Given the description of an element on the screen output the (x, y) to click on. 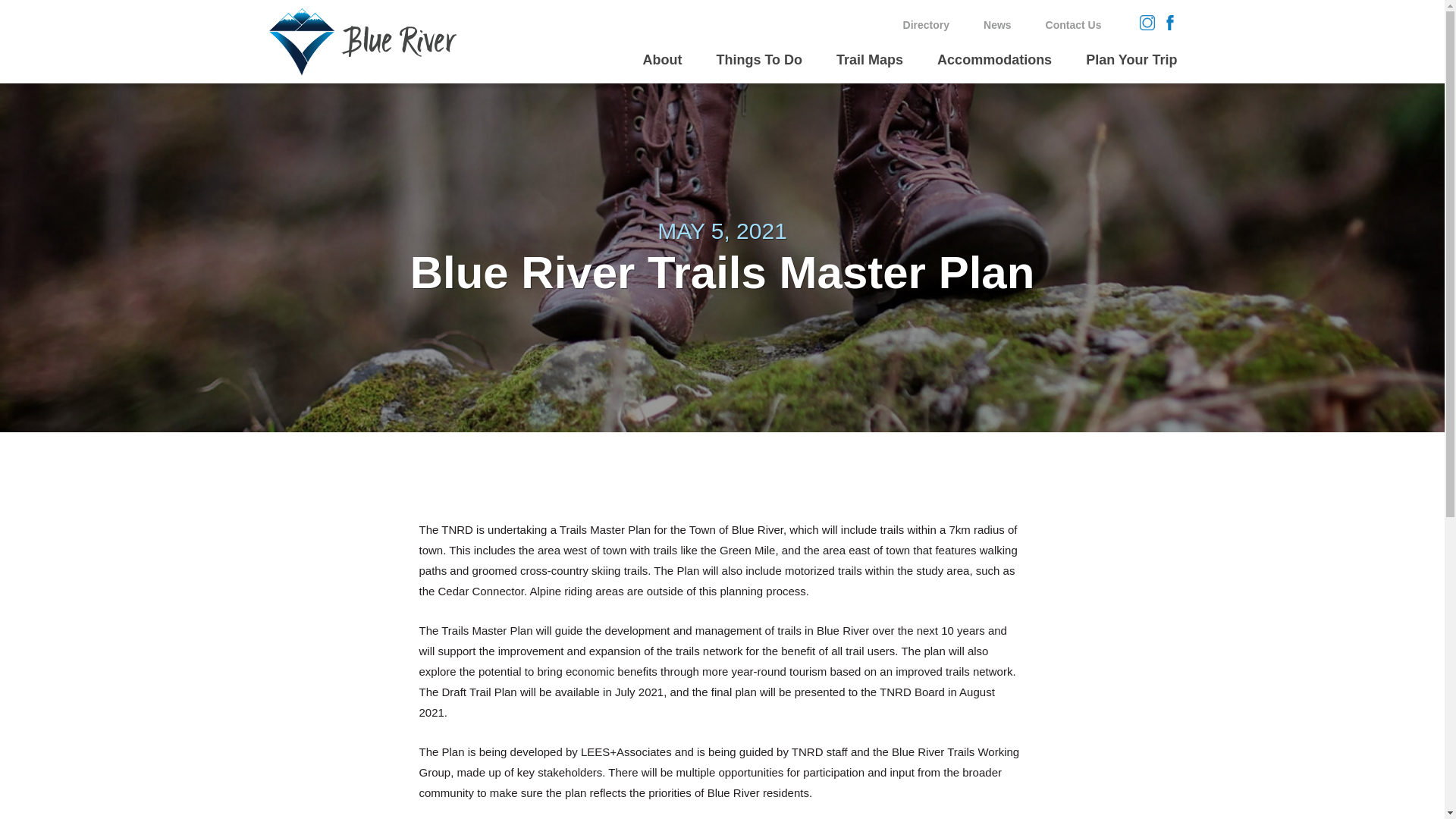
Things To Do (759, 68)
Directory (925, 24)
Plan Your Trip (1131, 68)
Trail Maps (868, 68)
About (661, 68)
News (997, 24)
Contact Us (1073, 24)
Accommodations (994, 68)
